Given the description of an element on the screen output the (x, y) to click on. 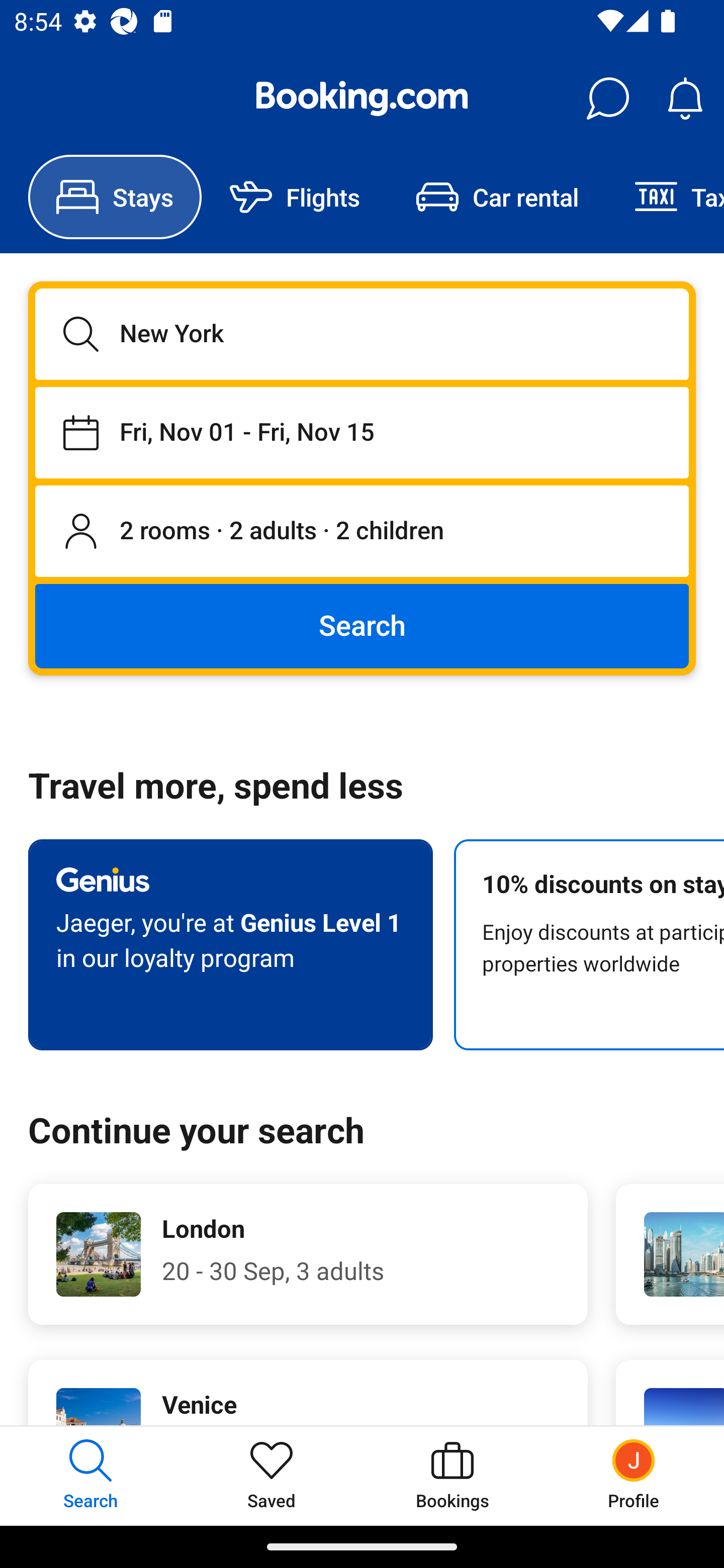
Messages (607, 98)
Notifications (685, 98)
Stays (114, 197)
Flights (294, 197)
Car rental (497, 197)
Taxi (665, 197)
New York (361, 333)
Staying from Fri, Nov 01 until Fri, Nov 15 (361, 432)
2 rooms, 2 adults, 2 children (361, 531)
Search (361, 625)
London 20 - 30 Sep, 3 adults (307, 1253)
Saved (271, 1475)
Bookings (452, 1475)
Profile (633, 1475)
